Given the description of an element on the screen output the (x, y) to click on. 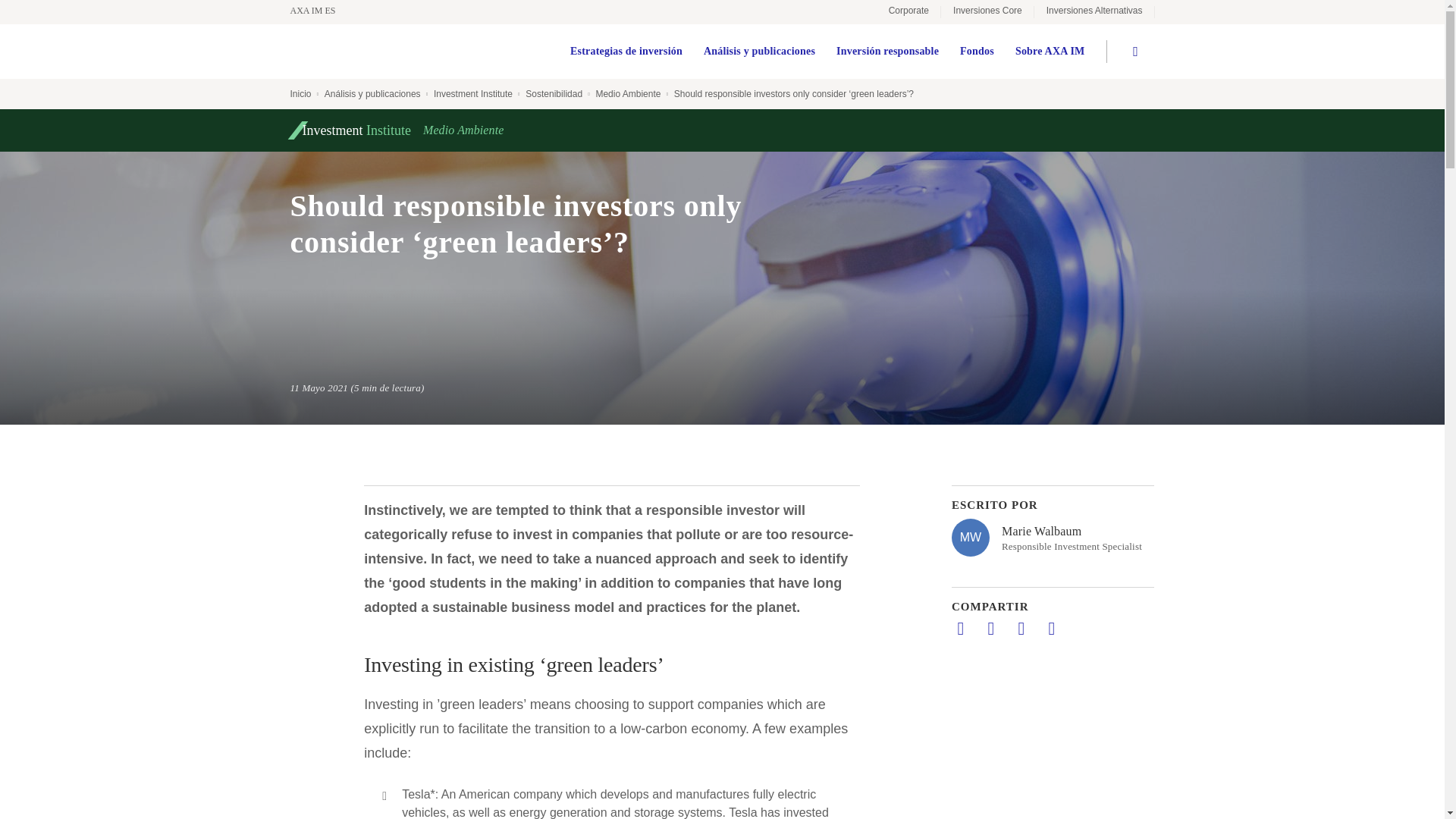
Share on twitter (990, 628)
Corporate (908, 12)
Shared by mail (1020, 628)
AXA IM ES, Home (319, 10)
Share on LinkedIn (960, 628)
Copy URL (1051, 628)
Inversiones Core (986, 12)
Inversiones Alternativas (1093, 12)
AXA IM ES (319, 10)
